Given the description of an element on the screen output the (x, y) to click on. 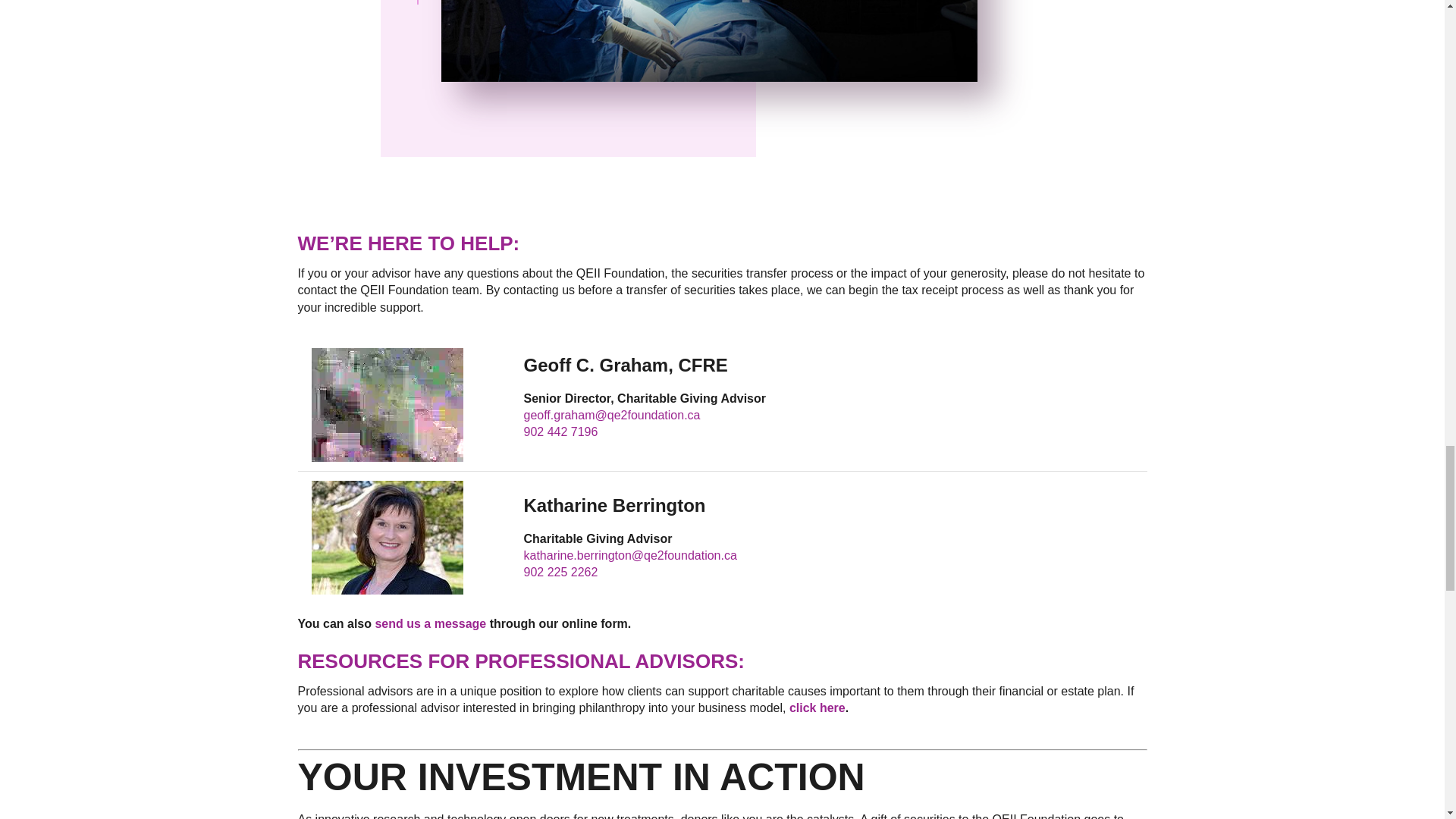
Geoff Graham (387, 404)
